Given the description of an element on the screen output the (x, y) to click on. 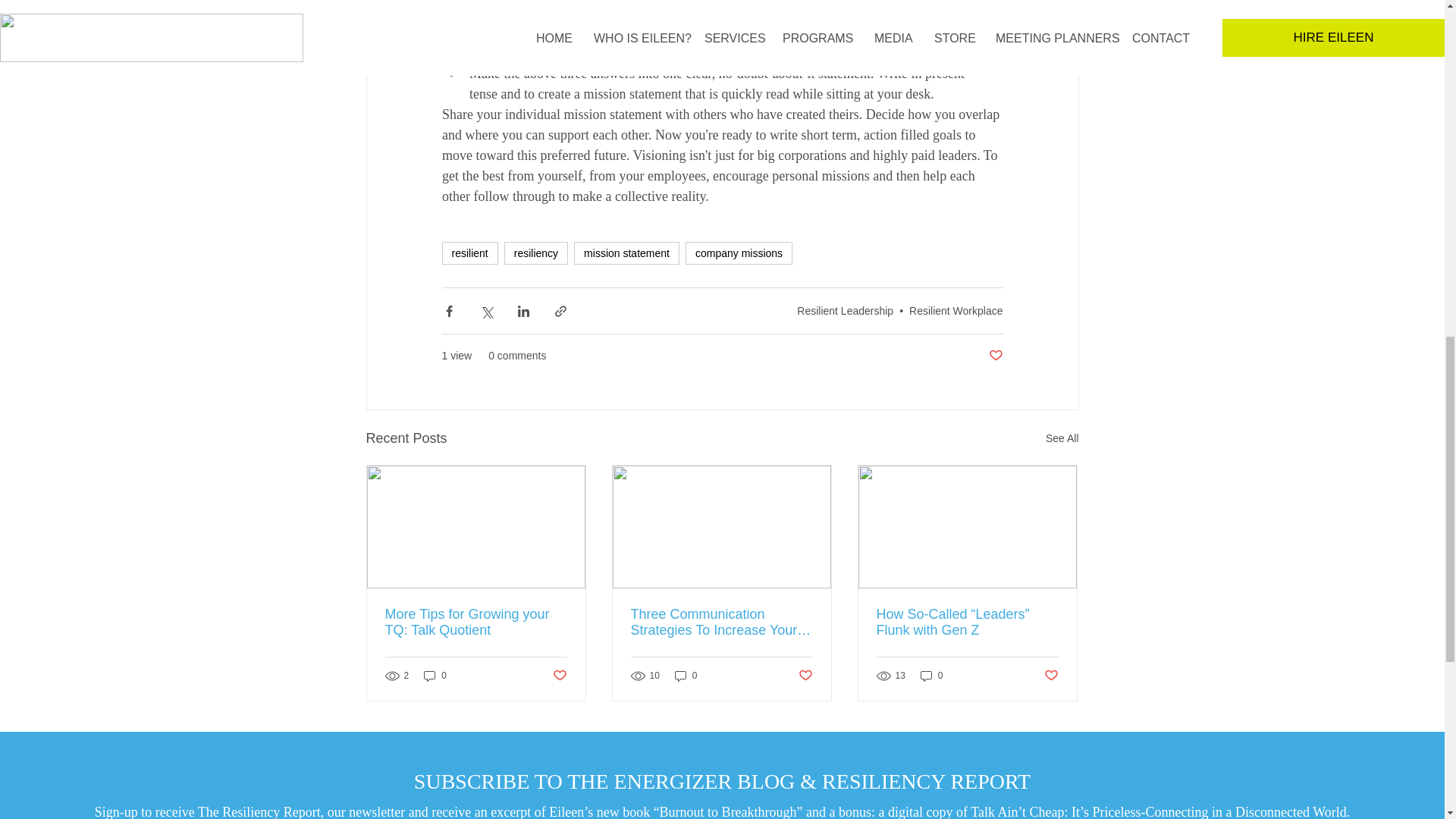
company missions (738, 252)
Resilient Leadership (844, 310)
resilient (469, 252)
mission statement (626, 252)
resiliency (535, 252)
Resilient Workplace (955, 310)
